Given the description of an element on the screen output the (x, y) to click on. 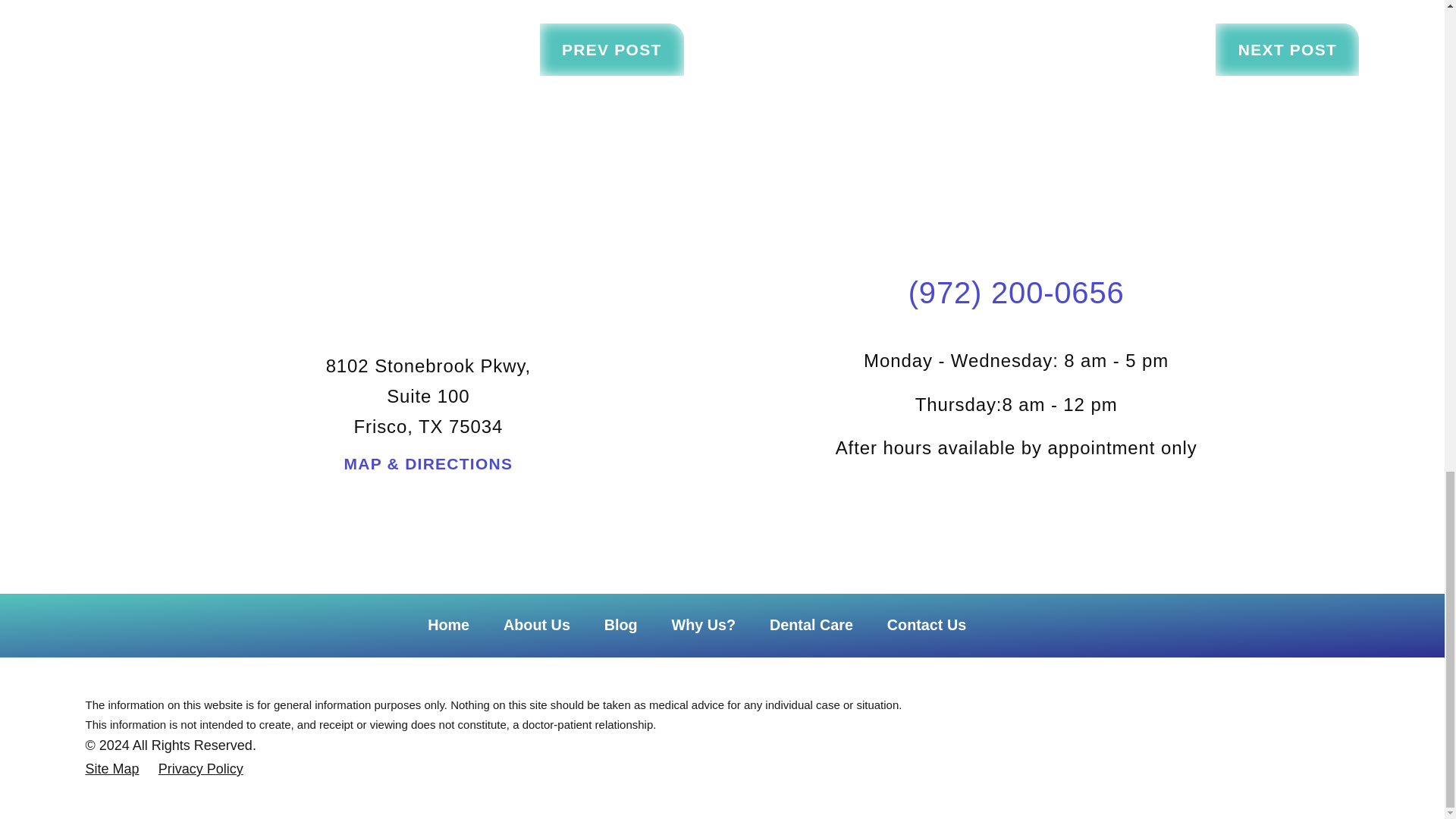
Facebook (1017, 504)
Yelp (993, 504)
Google Business Profile (1040, 504)
